Given the description of an element on the screen output the (x, y) to click on. 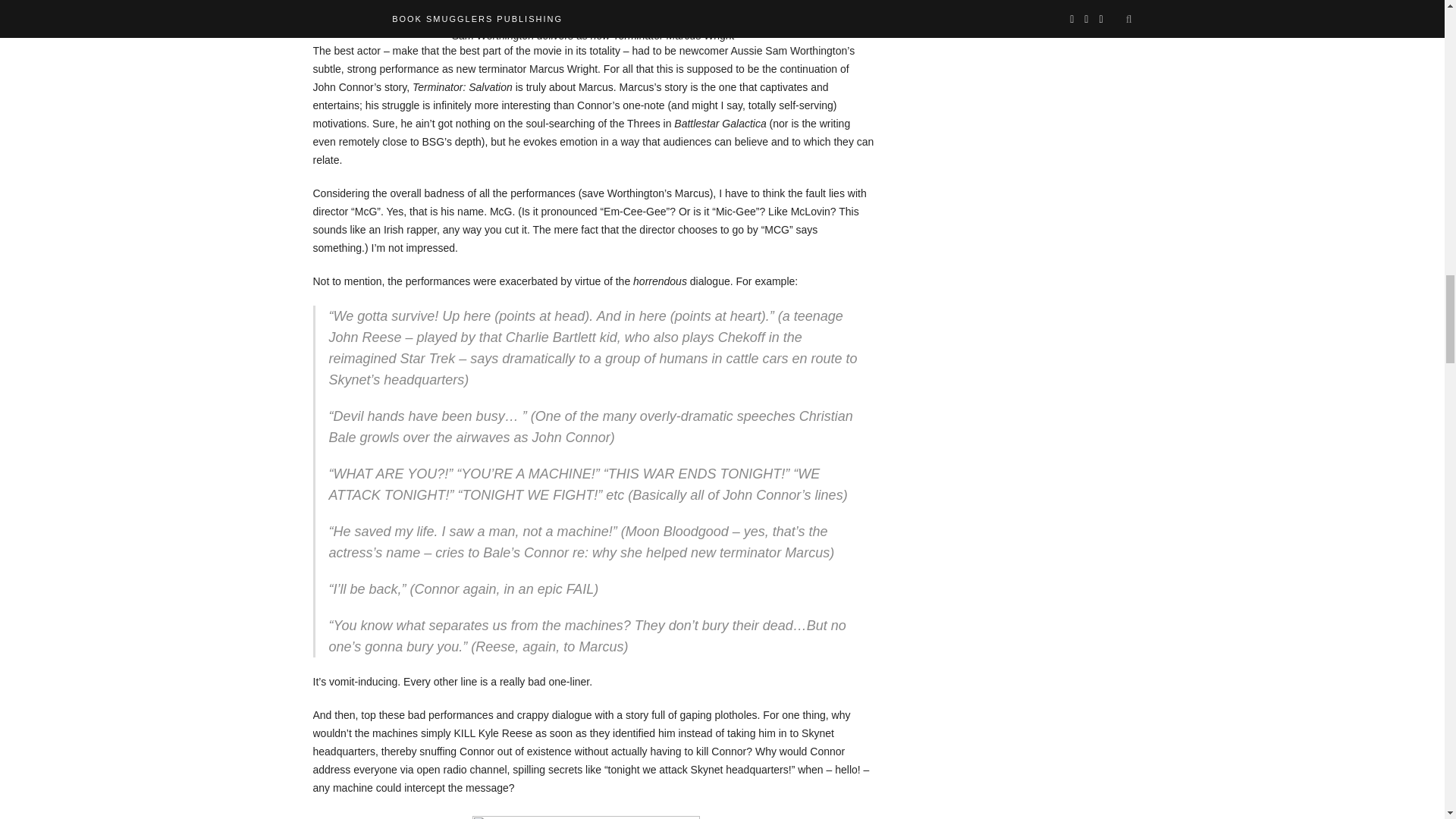
kyle-reese (584, 817)
